Given the description of an element on the screen output the (x, y) to click on. 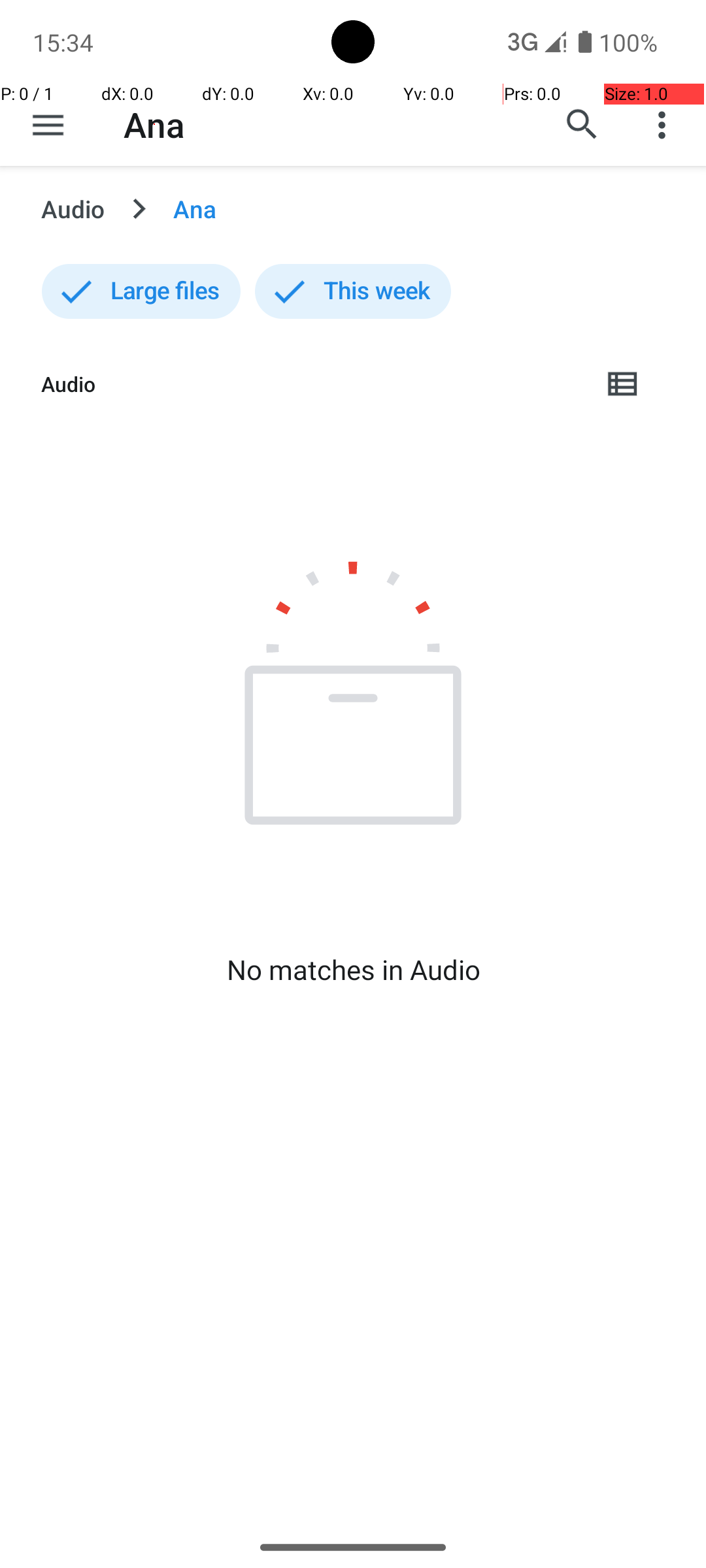
Ana Element type: android.widget.TextView (153, 124)
No matches in Audio Element type: android.widget.TextView (352, 968)
